Given the description of an element on the screen output the (x, y) to click on. 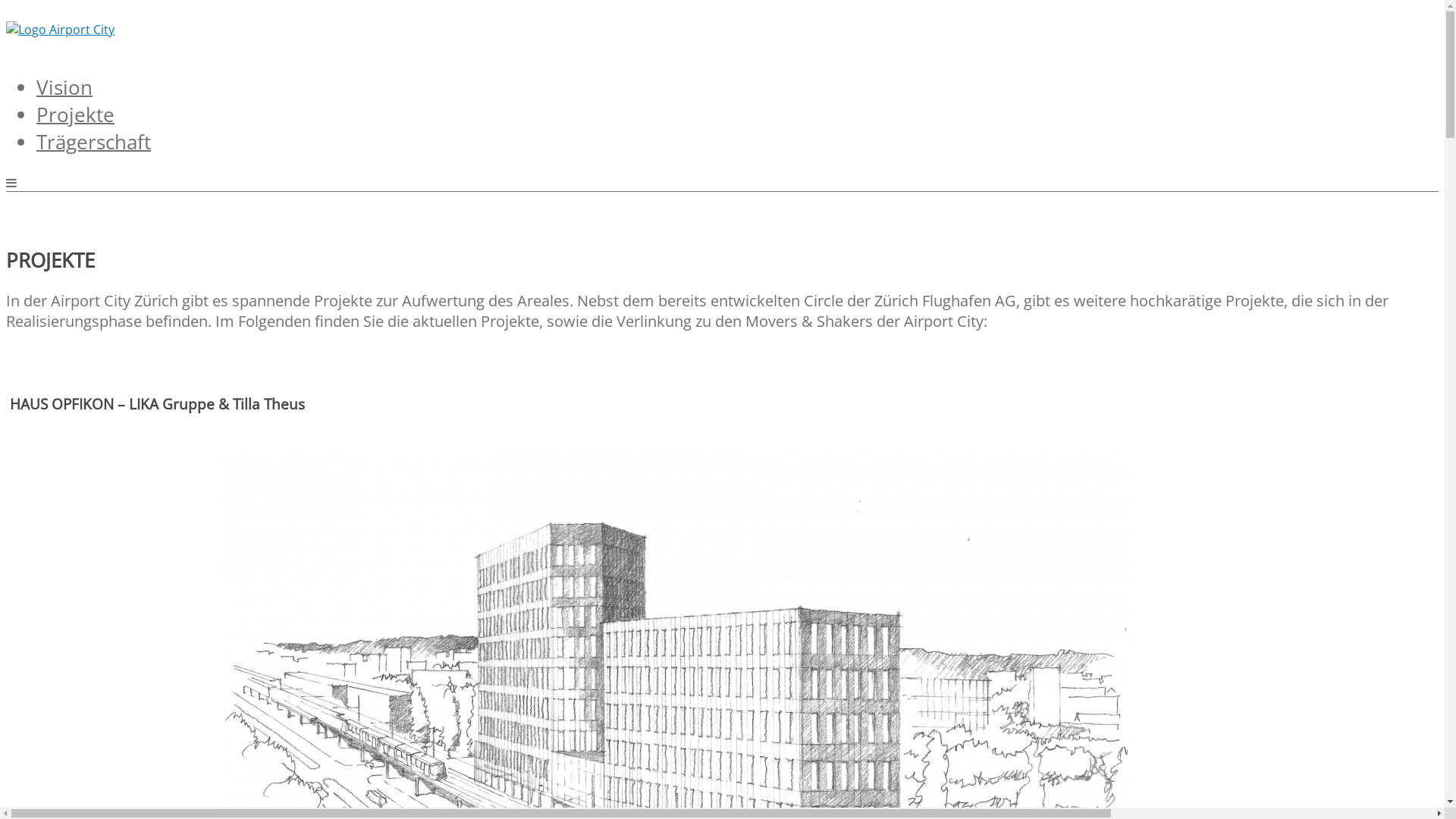
Vision Element type: text (64, 80)
Projekte Element type: text (75, 107)
